Given the description of an element on the screen output the (x, y) to click on. 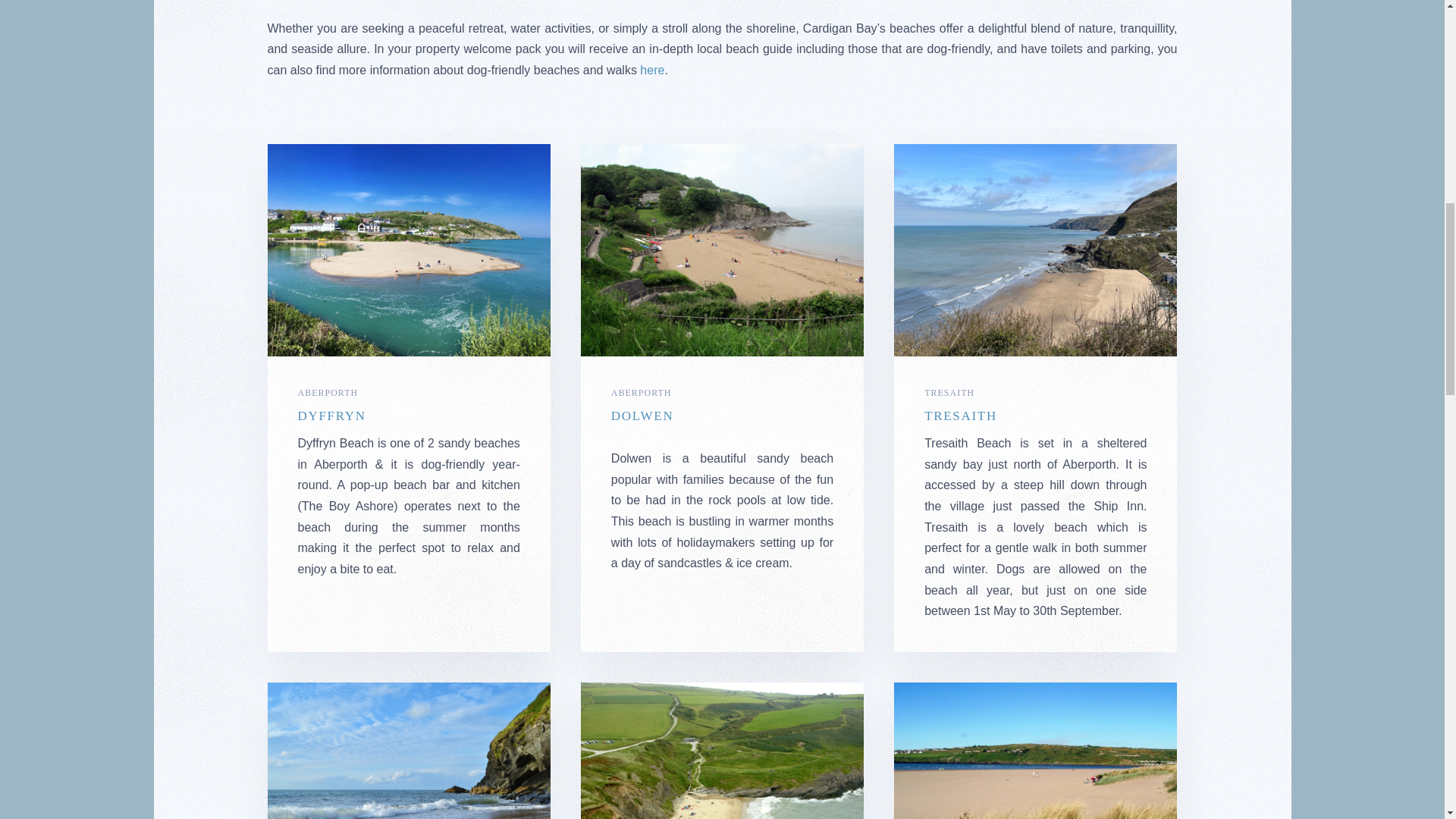
here (651, 69)
